Given the description of an element on the screen output the (x, y) to click on. 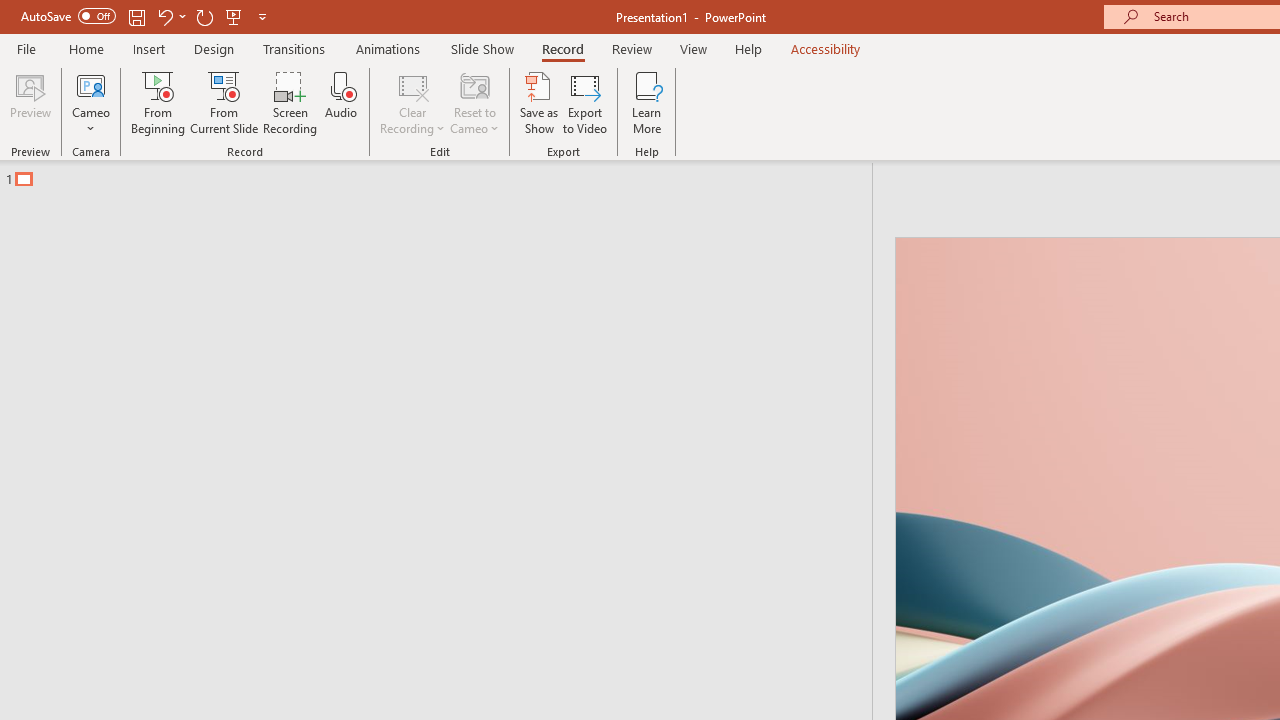
From Current Slide... (224, 102)
Clear Recording (412, 102)
